Given the description of an element on the screen output the (x, y) to click on. 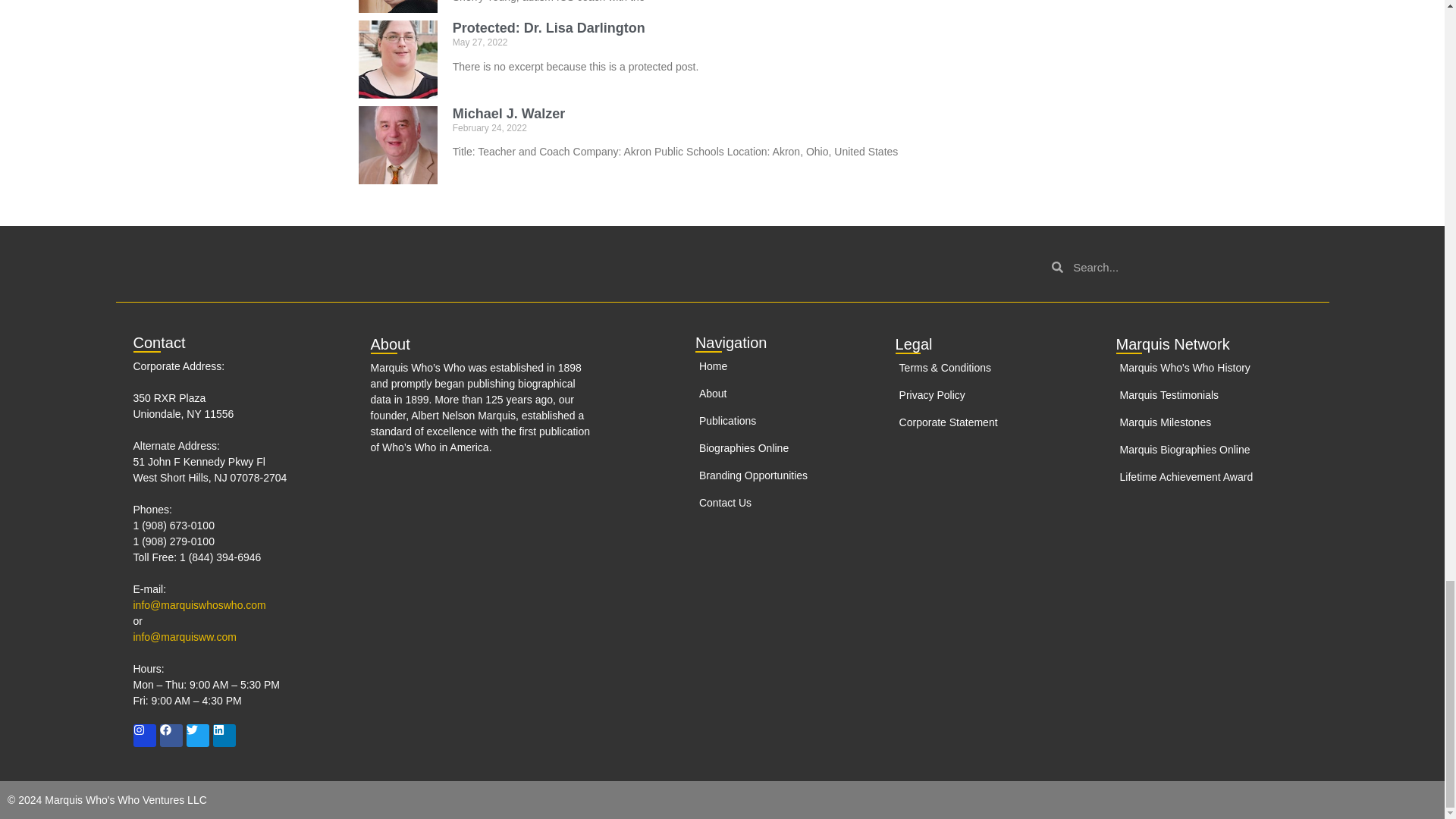
Protected: Dr. Lisa Darlington (548, 28)
Biographies Online (768, 448)
Branding Opportunities (768, 475)
Home (768, 366)
Publications (768, 421)
Contact Us (768, 503)
Privacy Policy (995, 395)
Michael J. Walzer (508, 113)
About (768, 393)
